Given the description of an element on the screen output the (x, y) to click on. 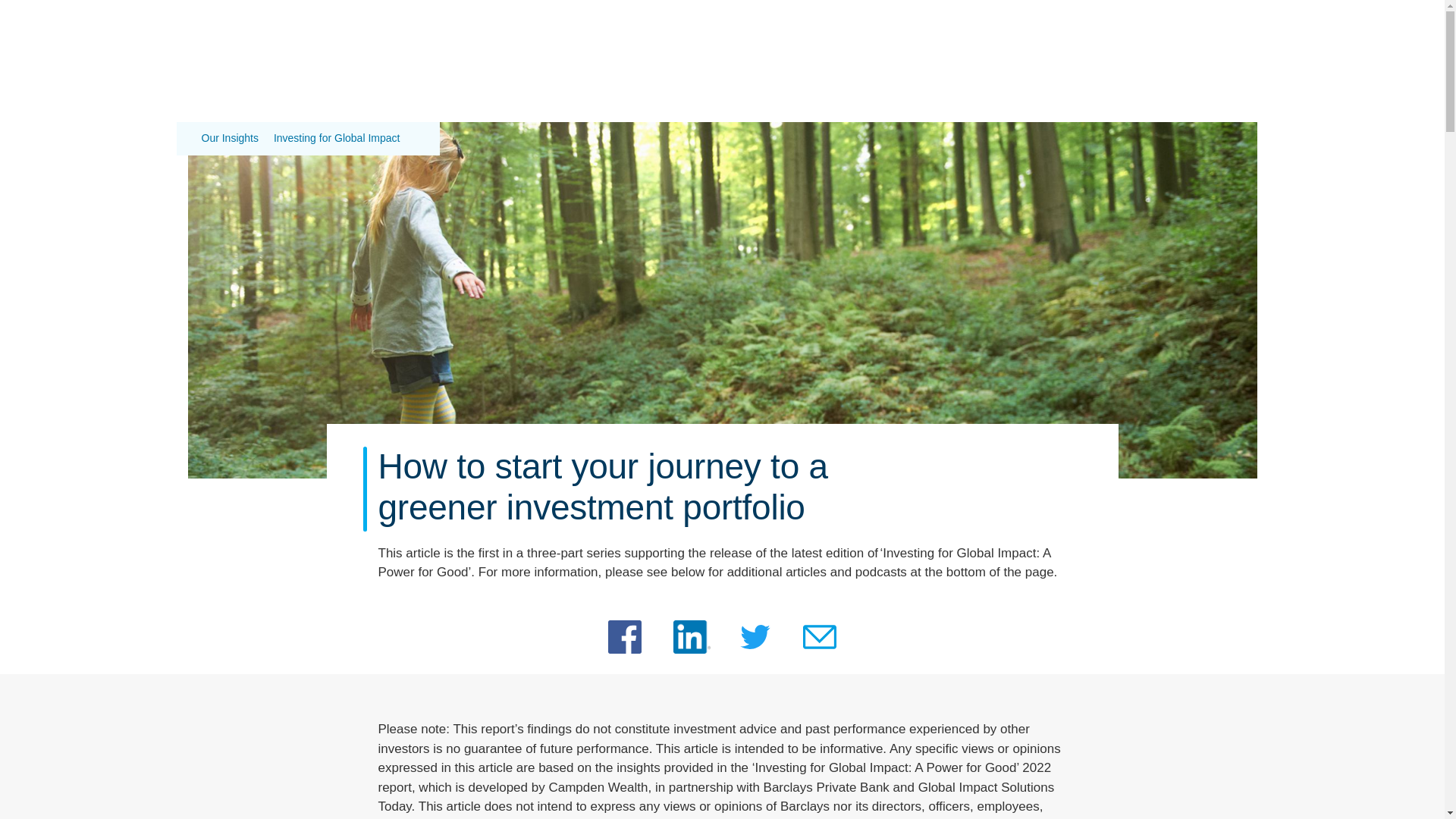
Share page via Email (819, 636)
Investing for Global Impact (336, 137)
Share page via Twitter (754, 636)
Share page via Facebook (625, 636)
Share page via LinkedIn (691, 636)
Our Insights (230, 137)
